Given the description of an element on the screen output the (x, y) to click on. 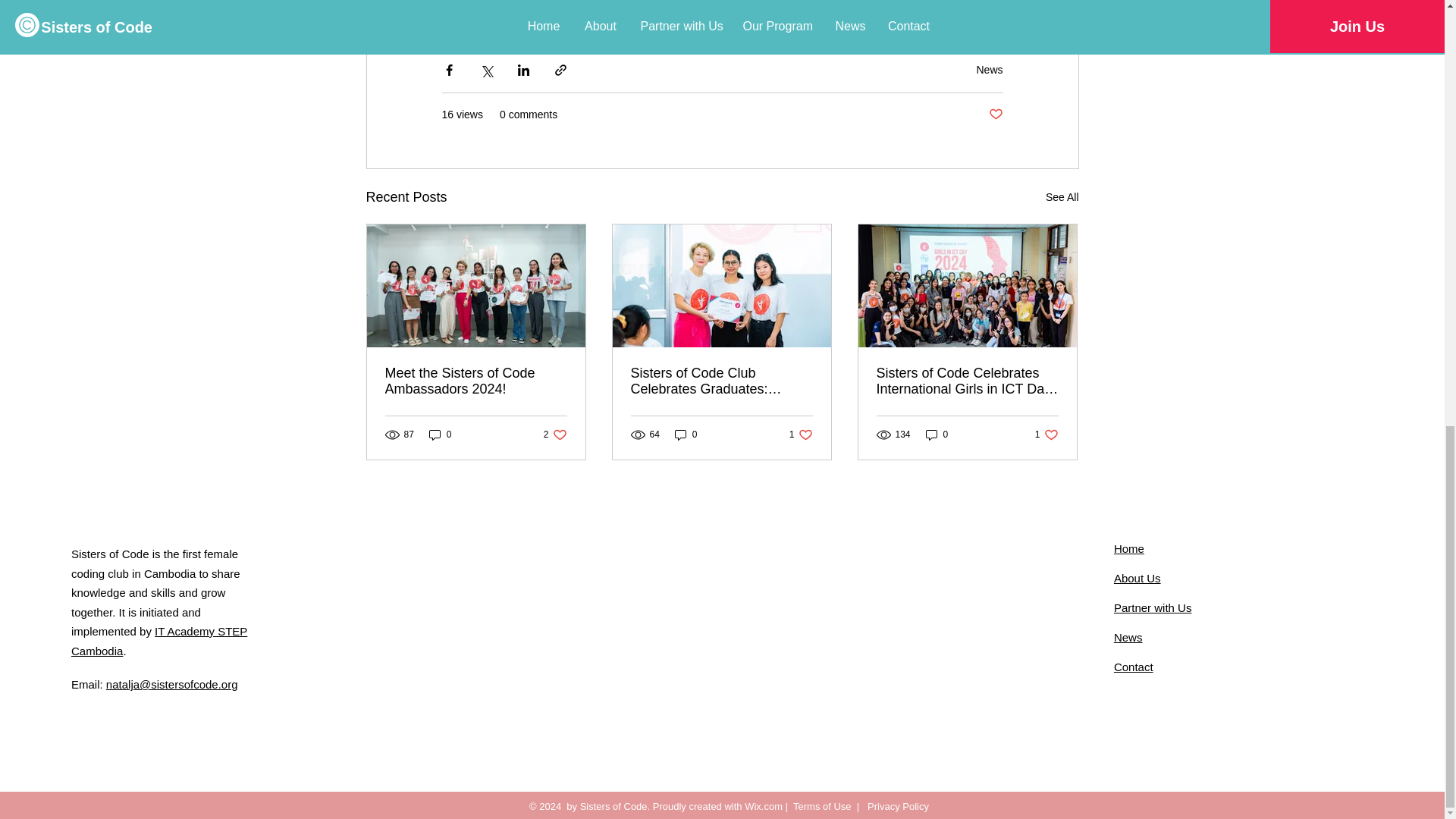
0 (800, 434)
Meet the Sisters of Code Ambassadors 2024! (1046, 434)
0 (440, 434)
News (476, 381)
0 (685, 434)
Post not marked as liked (989, 69)
